Given the description of an element on the screen output the (x, y) to click on. 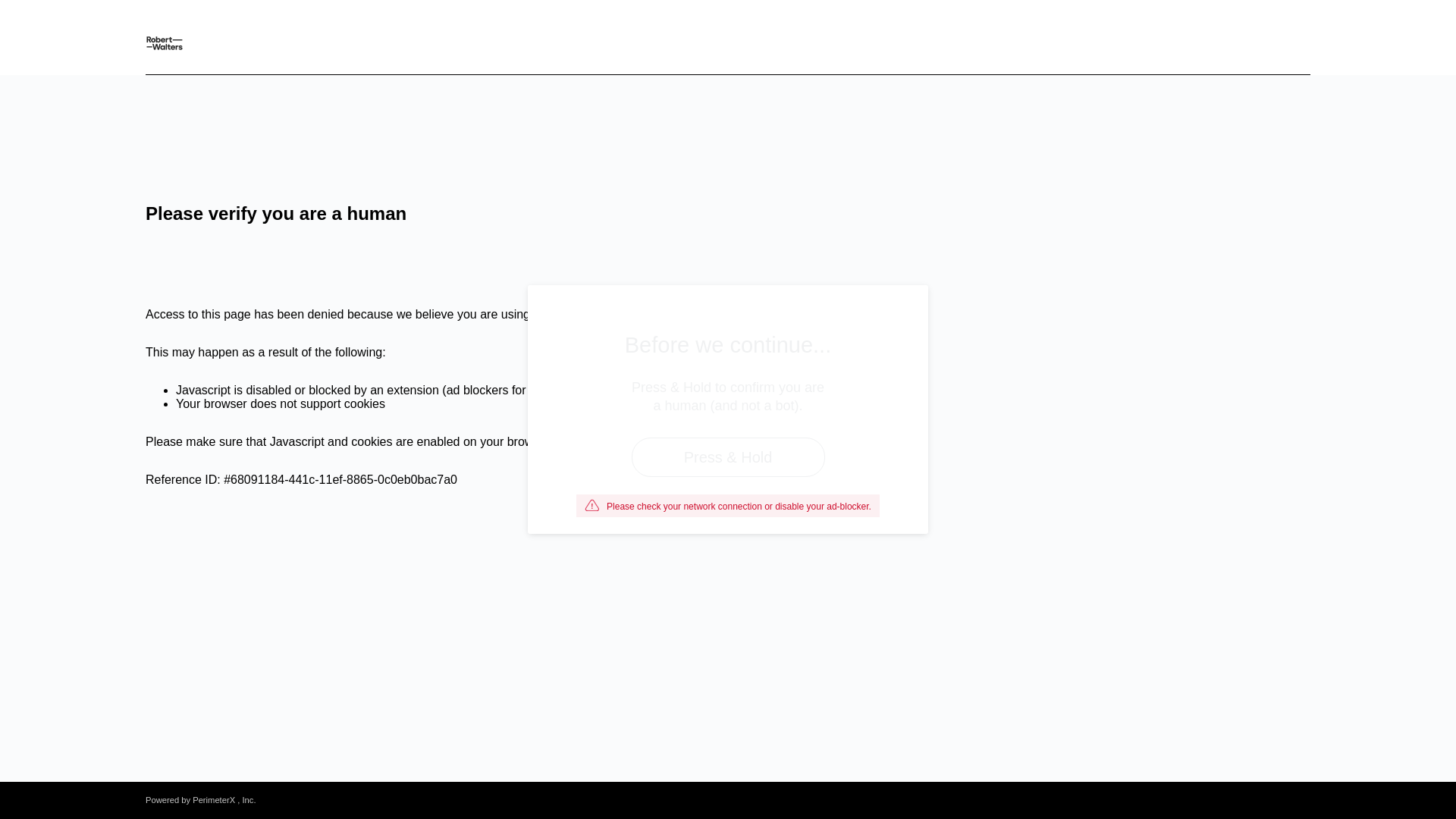
PerimeterX (213, 799)
